Given the description of an element on the screen output the (x, y) to click on. 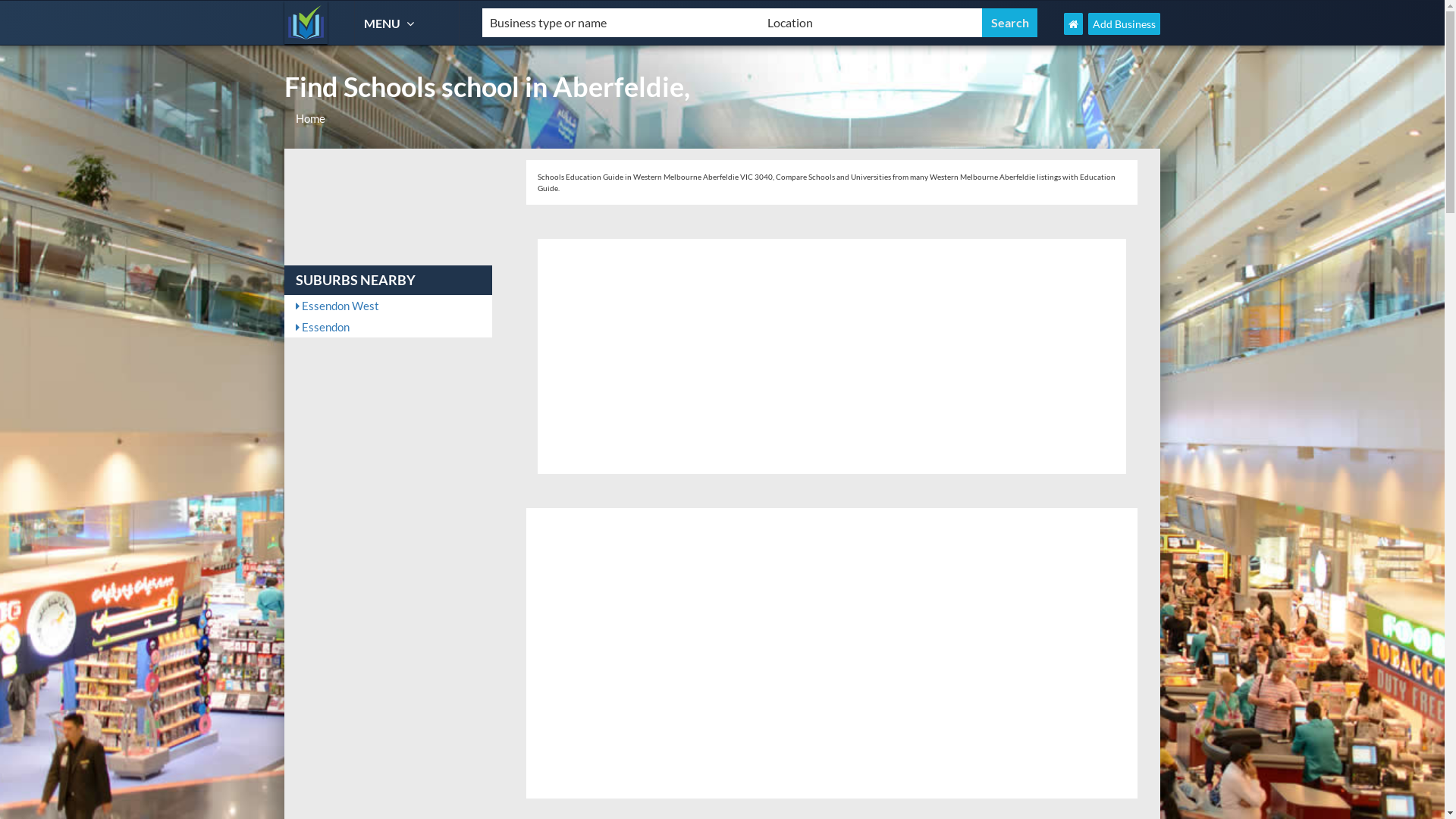
MENU Element type: text (390, 22)
Essendon West Element type: text (388, 305)
Home Element type: text (310, 118)
Education Guide Element type: hover (305, 21)
Essendon Element type: text (388, 326)
Search Element type: text (1009, 22)
Education Guide Home Page Element type: hover (1072, 23)
Advertisement Element type: hover (831, 356)
Add Business Element type: text (1124, 23)
